Given the description of an element on the screen output the (x, y) to click on. 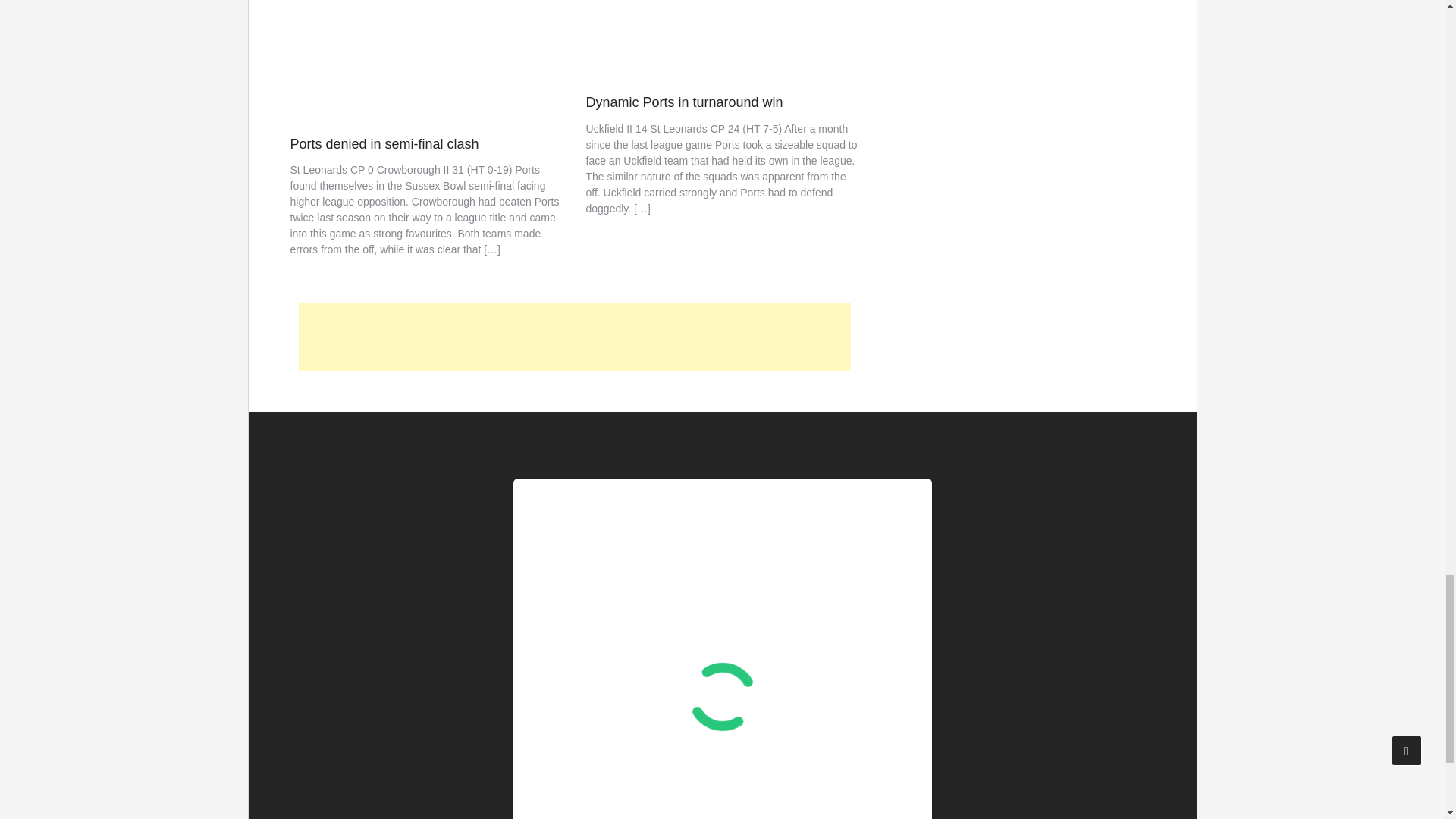
Dynamic Ports in turnaround win (684, 102)
Ports denied in semi-final clash (384, 143)
